Given the description of an element on the screen output the (x, y) to click on. 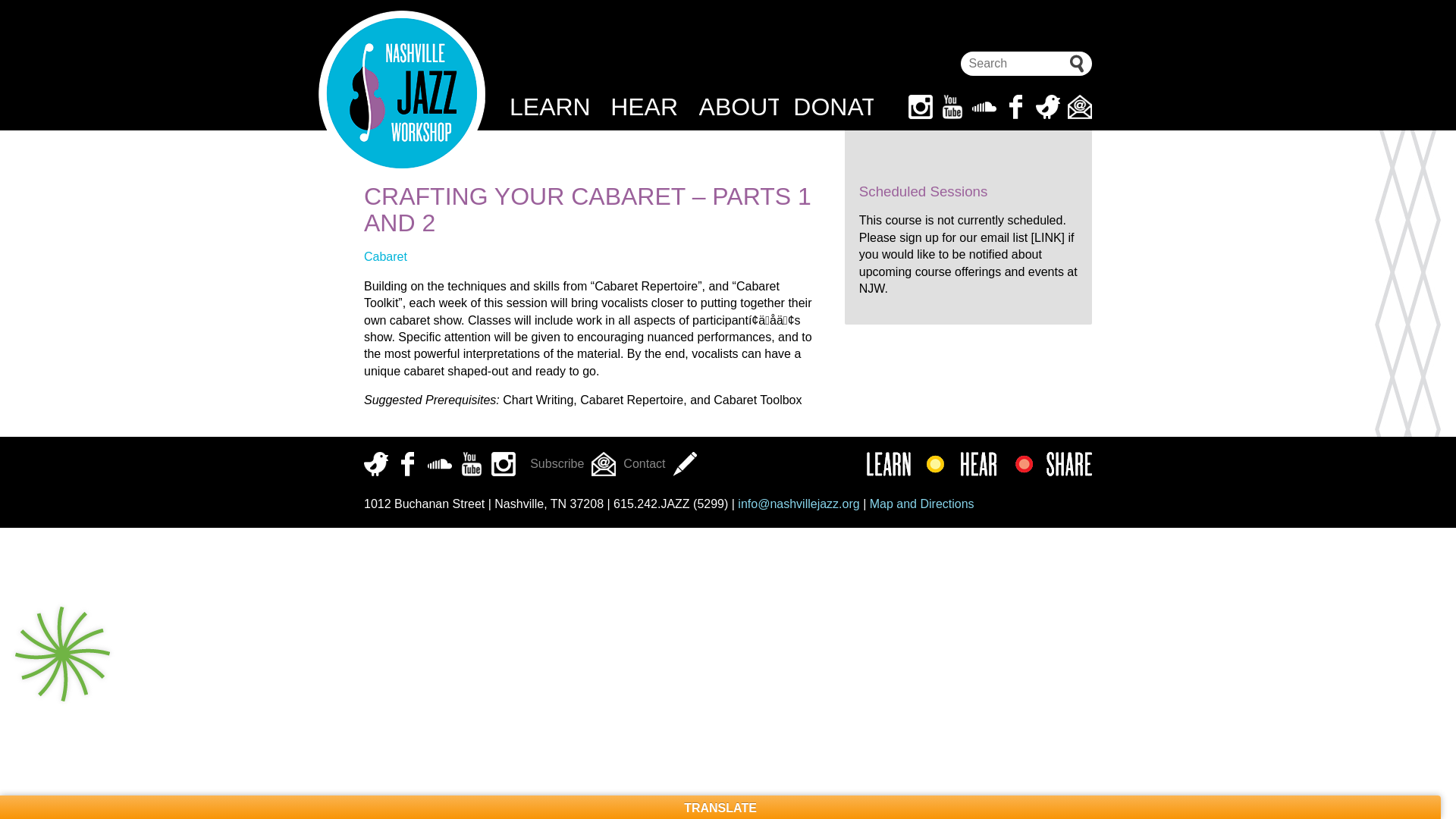
Nashville Jazz Workshop (401, 93)
LEARN (549, 106)
Instagram (503, 463)
HEAR (644, 106)
Twitter (376, 463)
Facebook (1015, 106)
Soundcloud (439, 463)
Youtube (951, 106)
ABOUT (738, 106)
Youtube (471, 463)
